Given the description of an element on the screen output the (x, y) to click on. 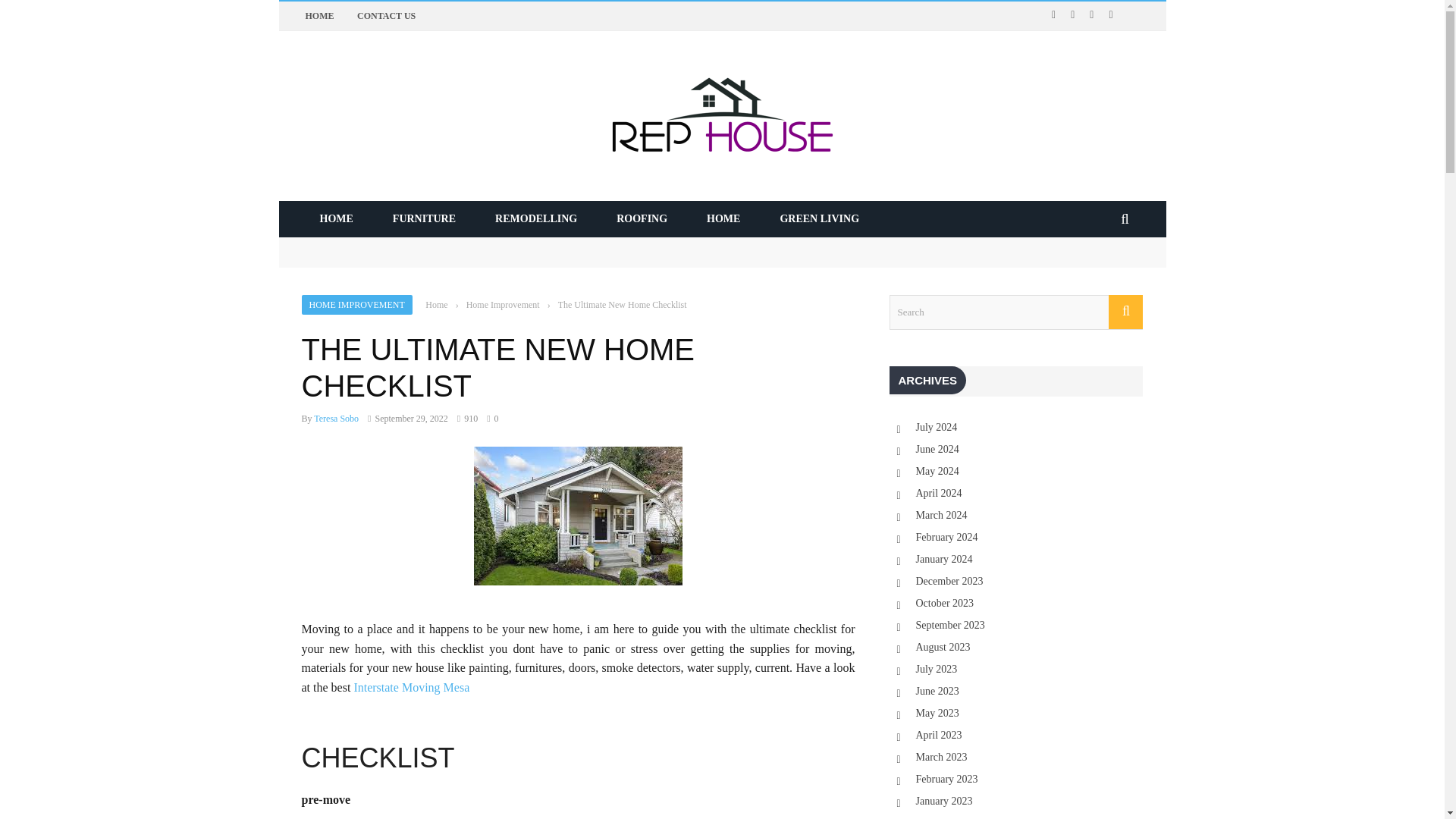
REMODELLING (536, 218)
HOME (318, 15)
GREEN LIVING (819, 218)
HOME IMPROVEMENT (356, 304)
ROOFING (641, 218)
Interstate Moving Mesa (410, 686)
HOME (336, 218)
Home (435, 304)
Teresa Sobo (336, 418)
FURNITURE (424, 218)
CONTACT US (385, 15)
Search (1015, 312)
Home Improvement (502, 304)
HOME (723, 218)
